Given the description of an element on the screen output the (x, y) to click on. 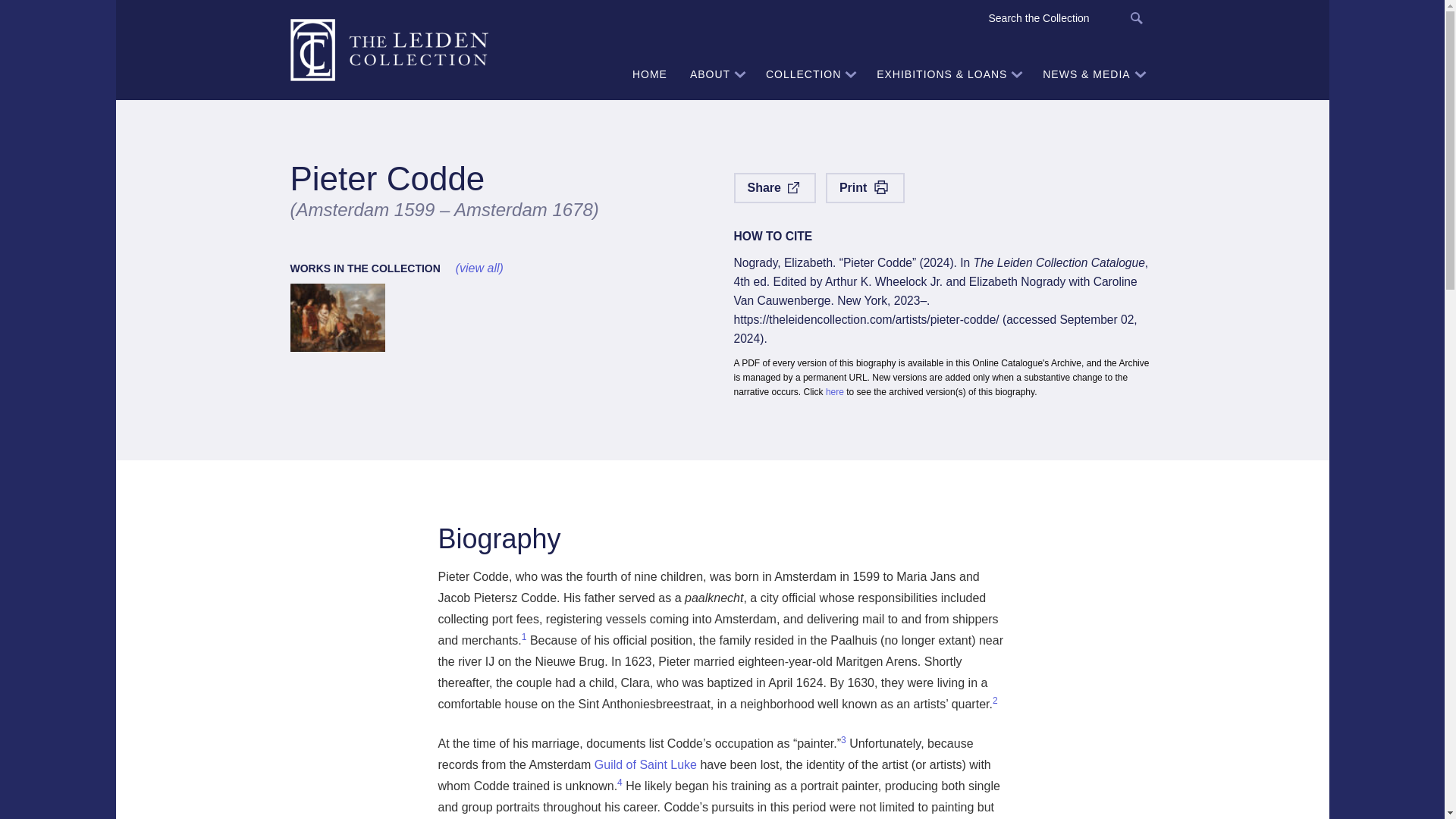
HOME (649, 73)
COLLECTION (809, 73)
ABOUT (716, 73)
